Given the description of an element on the screen output the (x, y) to click on. 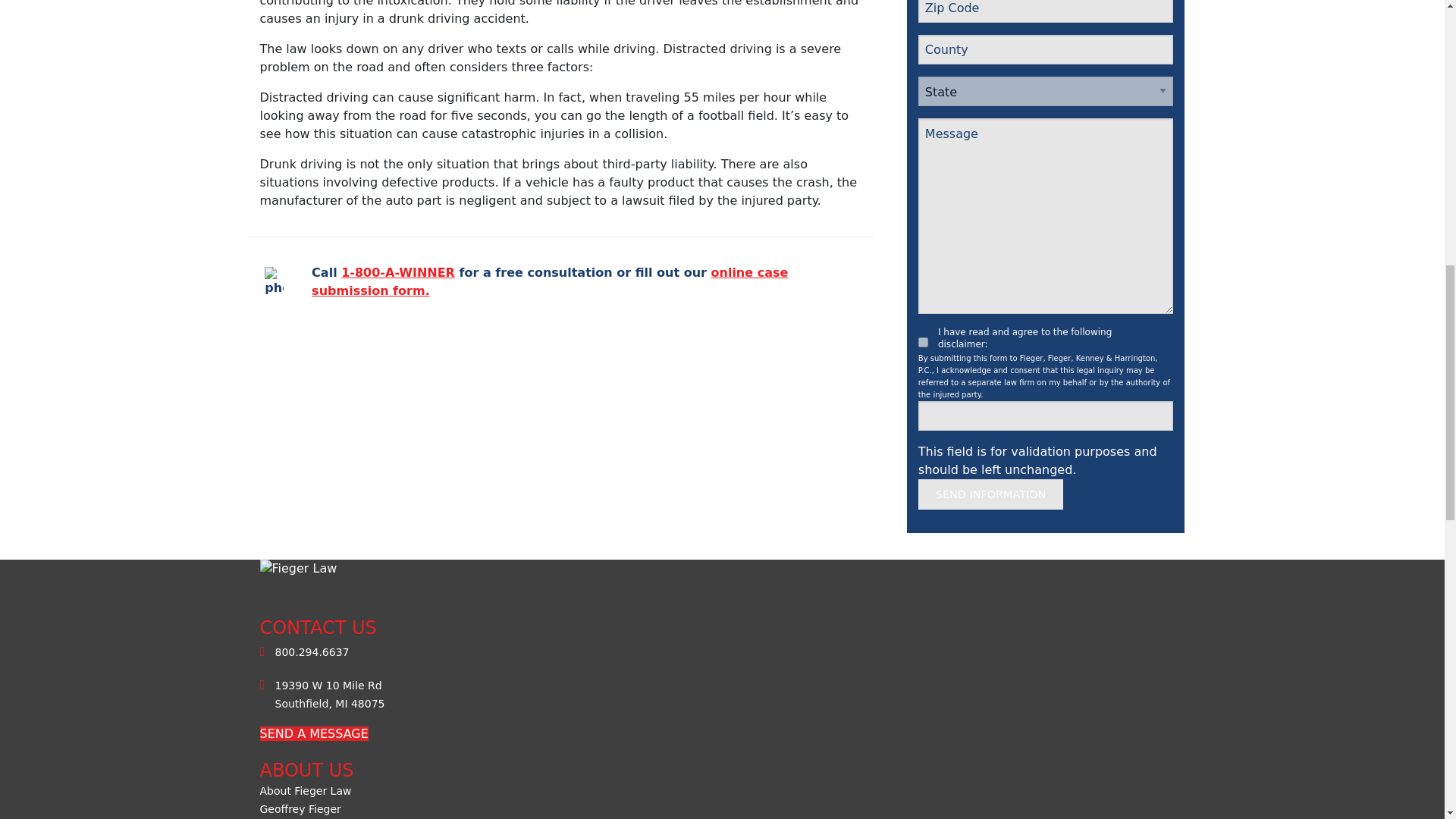
fgl-footer-logo (344, 574)
I have read and agree to the following disclaimer: (923, 342)
SEND INFORMATION (991, 494)
CONTACT US (313, 733)
